Given the description of an element on the screen output the (x, y) to click on. 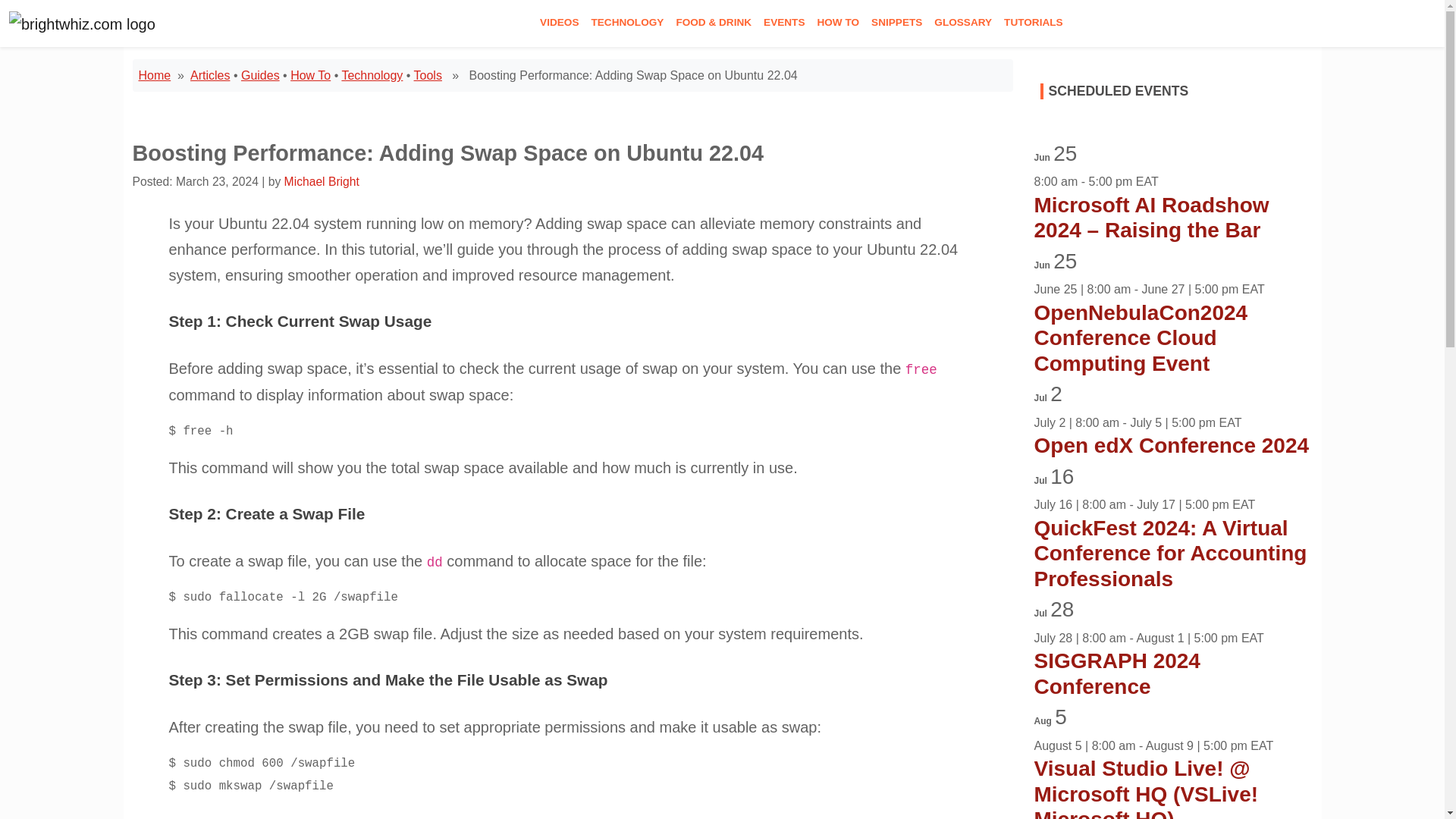
Technology (627, 23)
Open edX Conference 2024 (1170, 445)
Michael Bright (321, 181)
Articles (210, 74)
Glossary (962, 23)
Events (783, 23)
How To (837, 23)
HOW TO (837, 23)
Technology (371, 74)
GLOSSARY (962, 23)
TUTORIALS (1032, 23)
Open edX Conference 2024 (1170, 445)
Videos (559, 23)
Tools (427, 74)
